Given the description of an element on the screen output the (x, y) to click on. 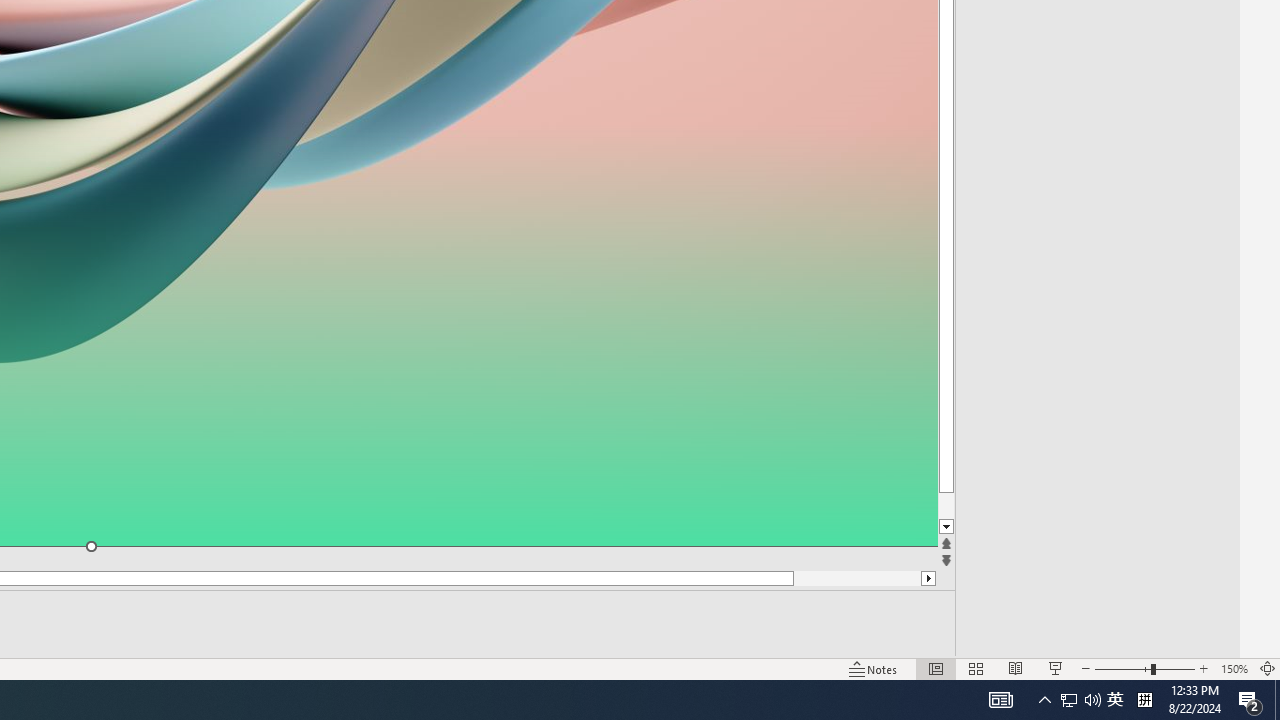
AutomationID: 4105 (1000, 699)
Zoom Out (1122, 668)
Q2790: 100% (1092, 699)
Zoom In (1204, 668)
Page down (983, 506)
Zoom 150% (1234, 668)
